Given the description of an element on the screen output the (x, y) to click on. 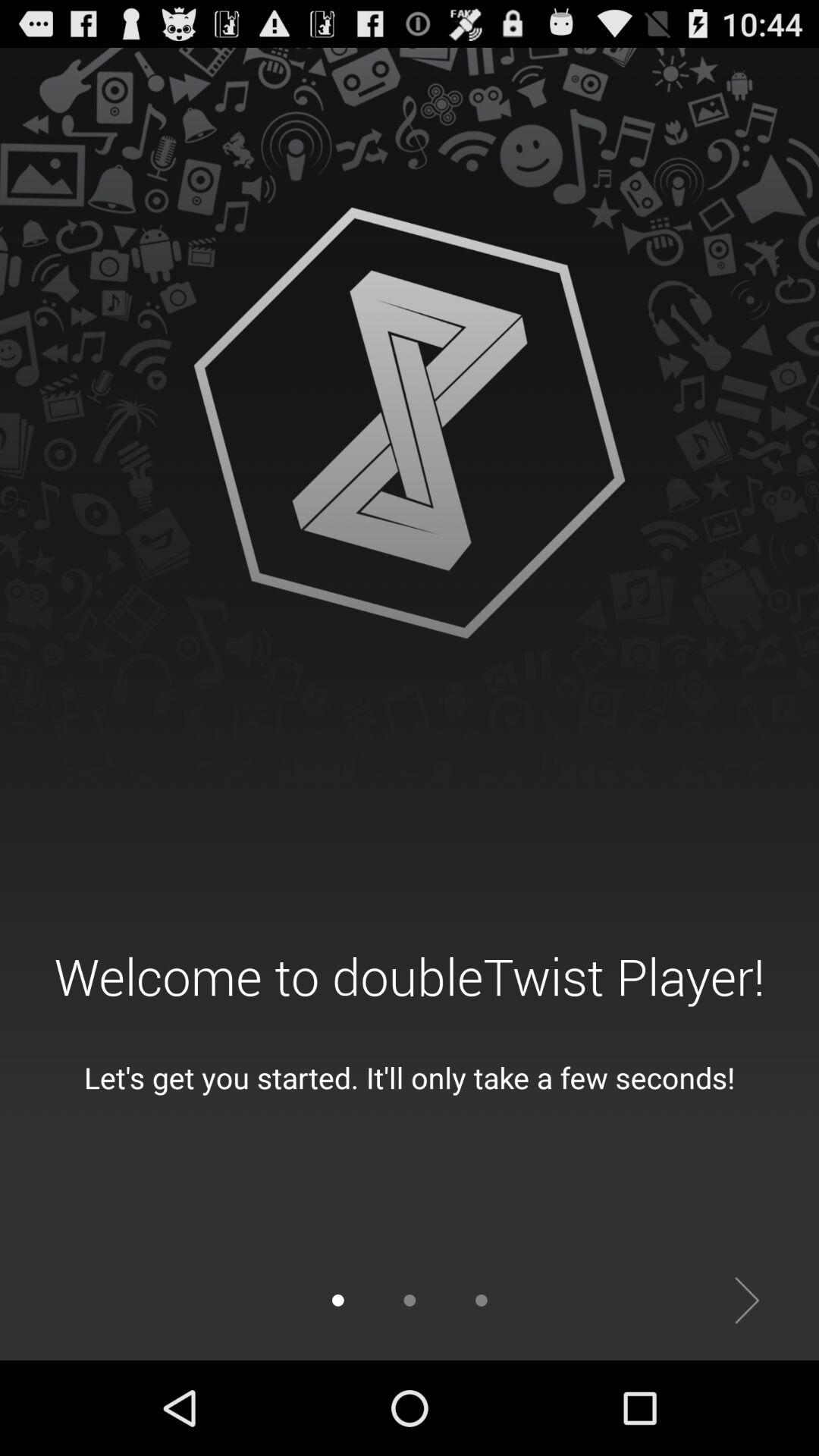
go to next (747, 1300)
